Given the description of an element on the screen output the (x, y) to click on. 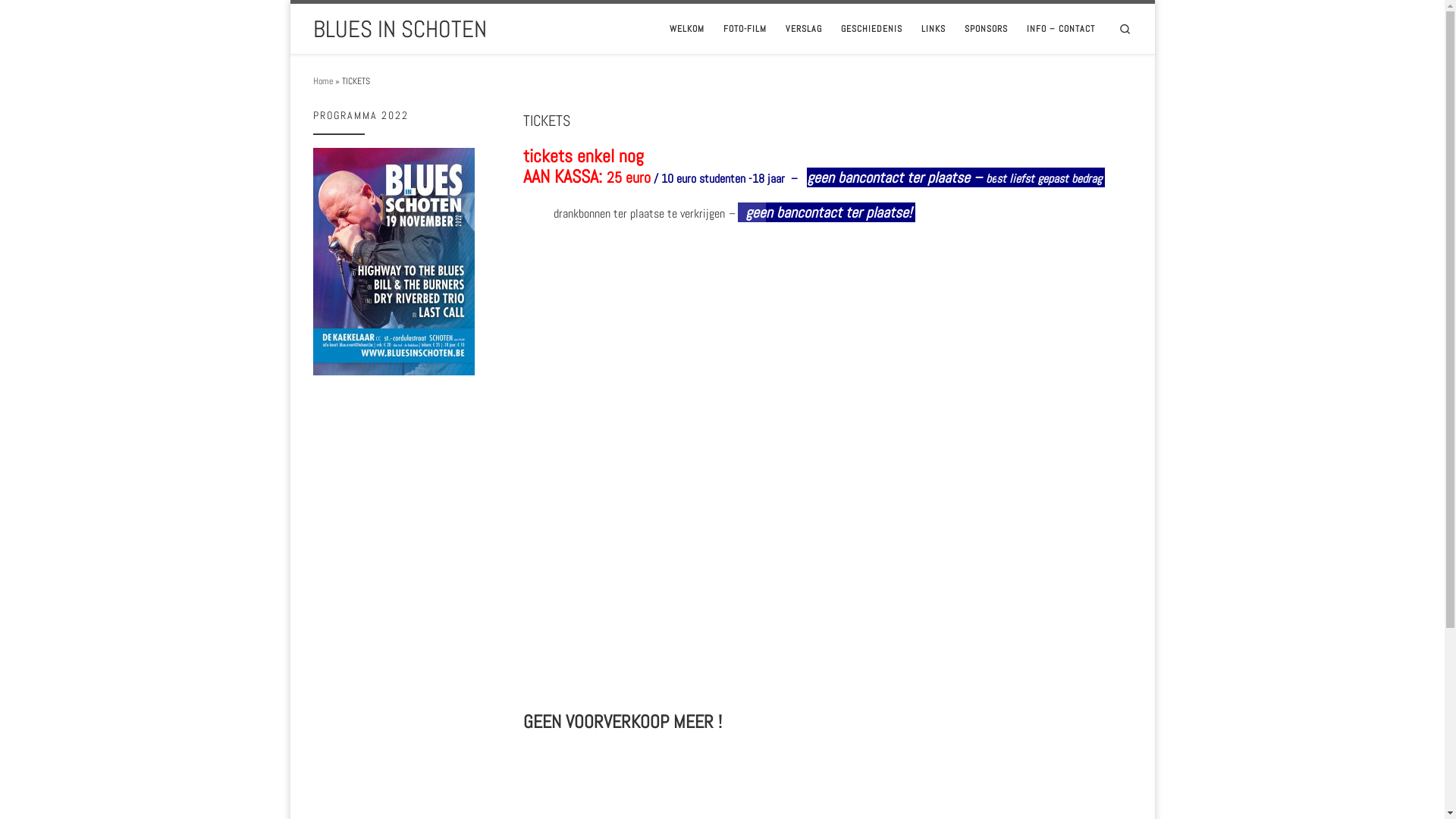
GESCHIEDENIS Element type: text (871, 28)
FOTO-FILM Element type: text (744, 28)
SPONSORS Element type: text (986, 28)
VERSLAG Element type: text (804, 28)
Search Element type: text (1124, 29)
Home Element type: text (322, 81)
LINKS Element type: text (933, 28)
WELKOM Element type: text (687, 28)
Skip to content Element type: text (50, 20)
BLUES IN SCHOTEN Element type: text (399, 29)
programma 2022 Element type: hover (392, 261)
